Given the description of an element on the screen output the (x, y) to click on. 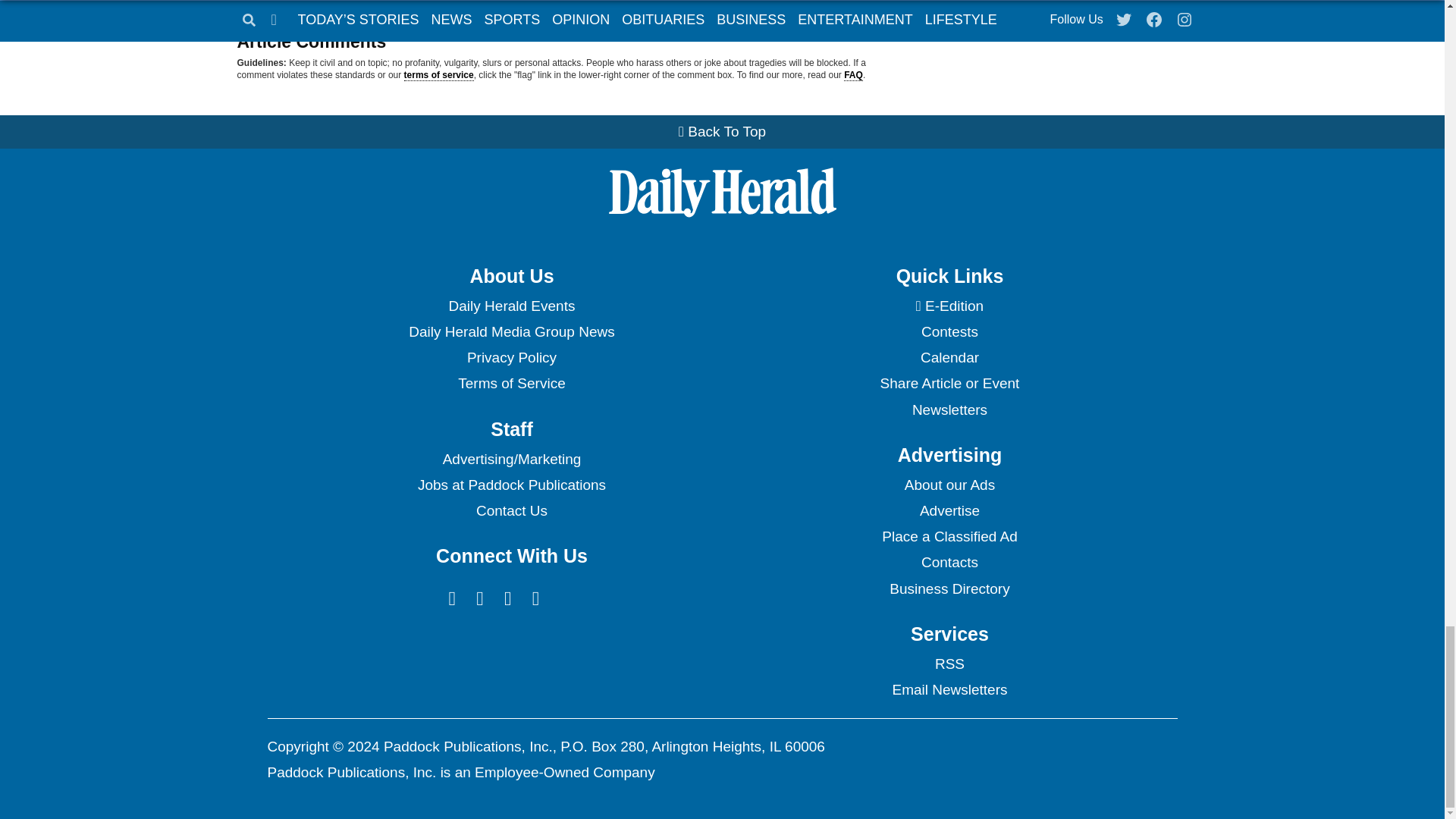
Daily Herald Media Group News (511, 331)
Daily Herald Events (511, 306)
Privacy Policy (511, 357)
